Given the description of an element on the screen output the (x, y) to click on. 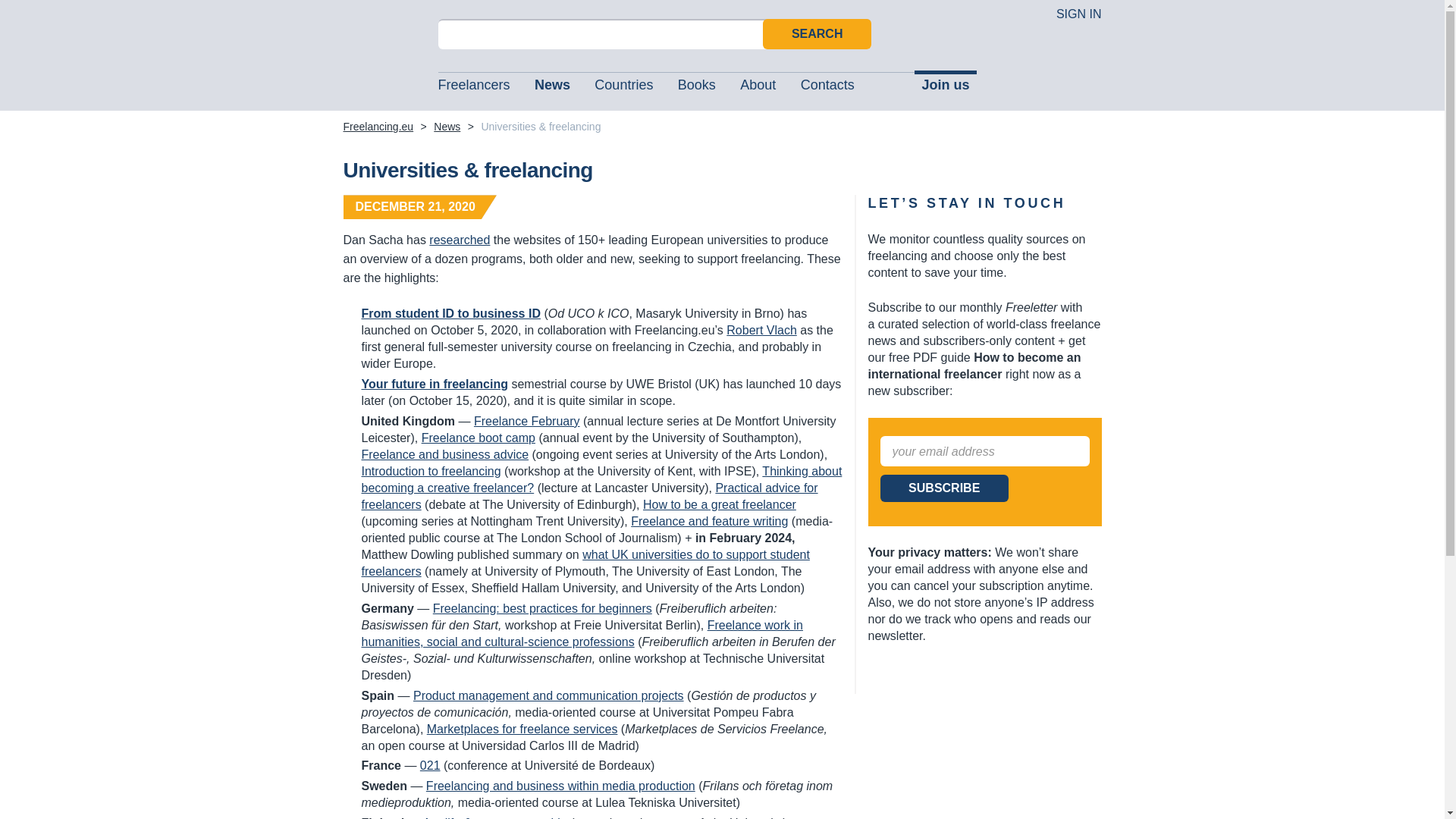
Your future in freelancing (434, 383)
researched (459, 239)
Freelancing: best practices for beginners (542, 608)
Freelance news and updates (446, 126)
News (446, 126)
Freelance February (526, 420)
SEARCH (816, 33)
Freelancing.eu (380, 56)
Freelance and feature writing (708, 521)
Countries (621, 91)
Freelance news and updates (550, 91)
Marketplaces for freelance services (521, 727)
Contacts and other details (825, 91)
Freelancers (473, 91)
